Given the description of an element on the screen output the (x, y) to click on. 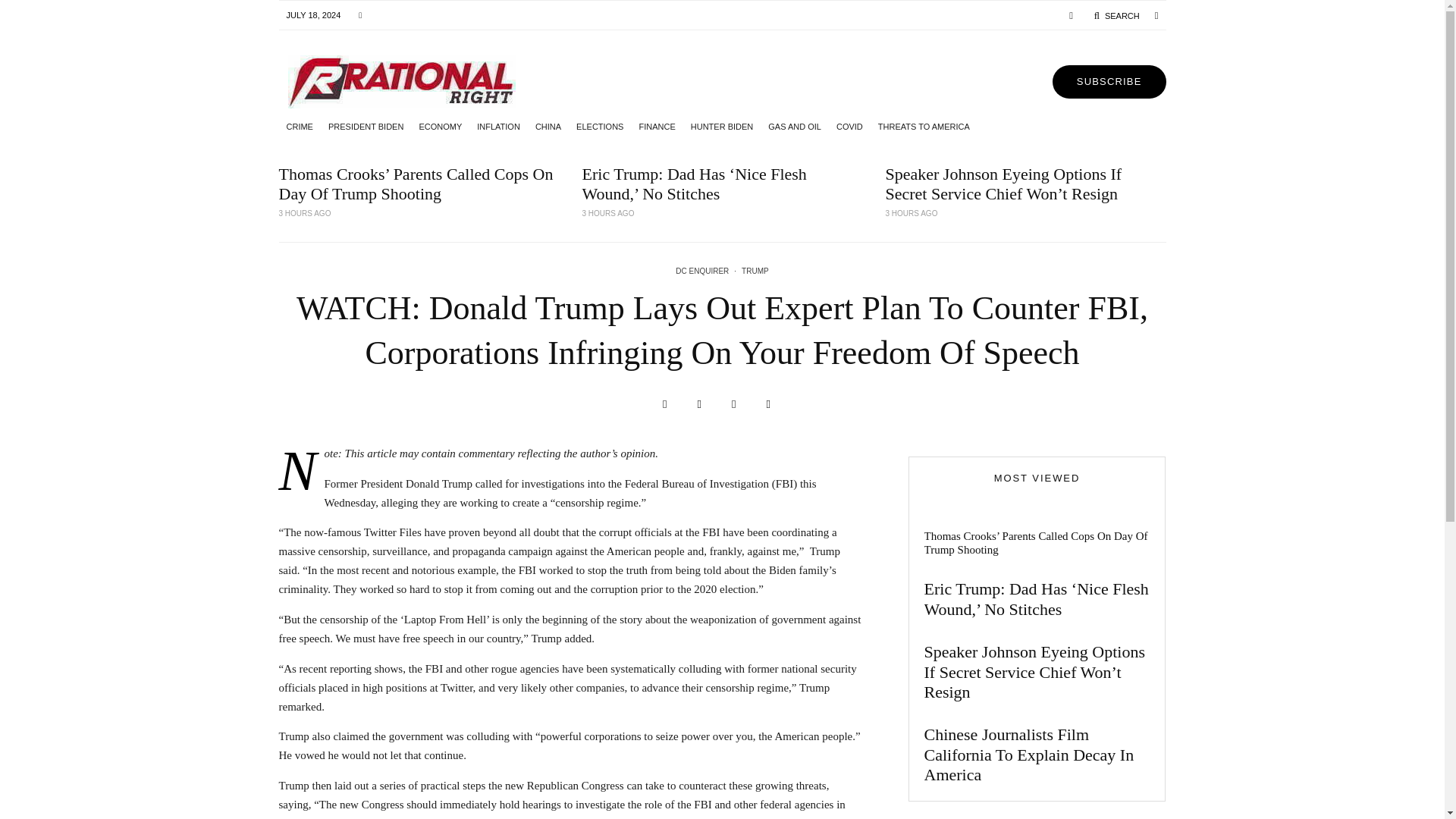
CRIME (299, 126)
SUBSCRIBE (1109, 81)
PRESIDENT BIDEN (365, 126)
INFLATION (497, 126)
SEARCH (1116, 15)
ECONOMY (439, 126)
CHINA (548, 126)
